Given the description of an element on the screen output the (x, y) to click on. 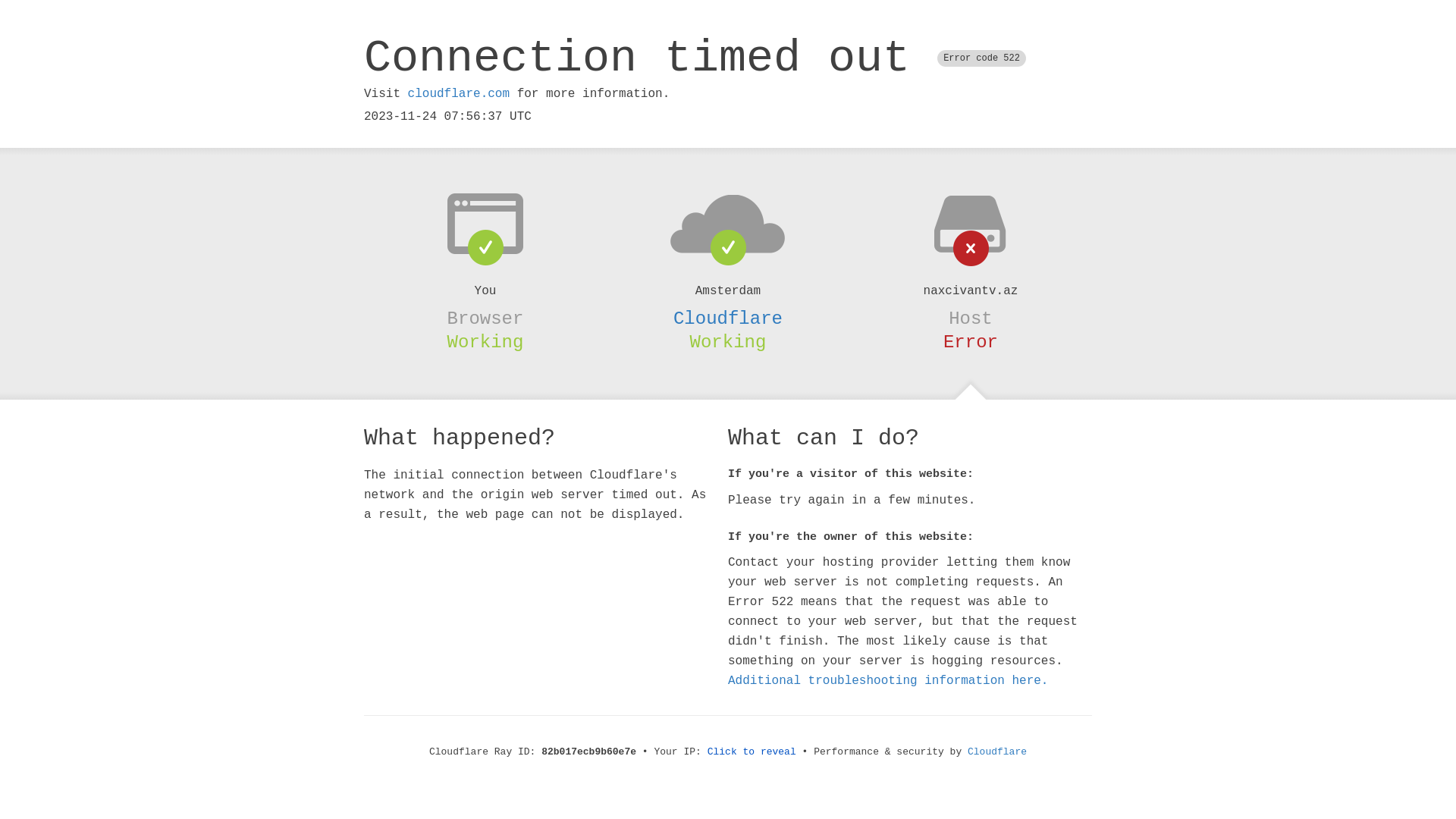
Cloudflare Element type: text (996, 751)
Additional troubleshooting information here. Element type: text (888, 680)
Click to reveal Element type: text (751, 751)
cloudflare.com Element type: text (458, 93)
Cloudflare Element type: text (727, 318)
